Given the description of an element on the screen output the (x, y) to click on. 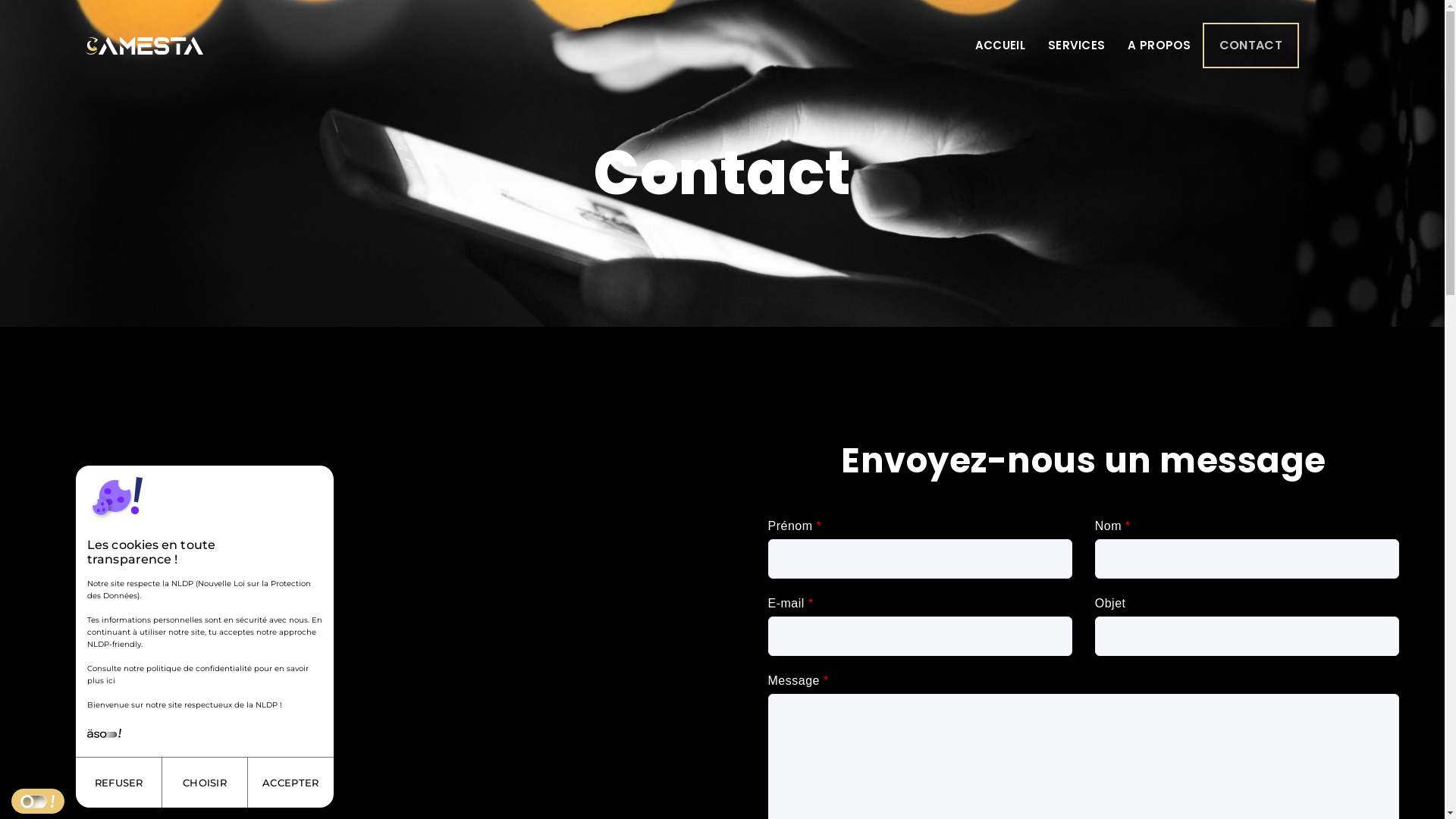
ACCUEIL Element type: text (999, 45)
CHOISIR Element type: text (204, 782)
REFUSER Element type: text (118, 782)
Accepter Element type: text (290, 782)
A PROPOS Element type: text (1158, 45)
SERVICES Element type: text (1076, 45)
CONTACT Element type: text (1250, 45)
